Given the description of an element on the screen output the (x, y) to click on. 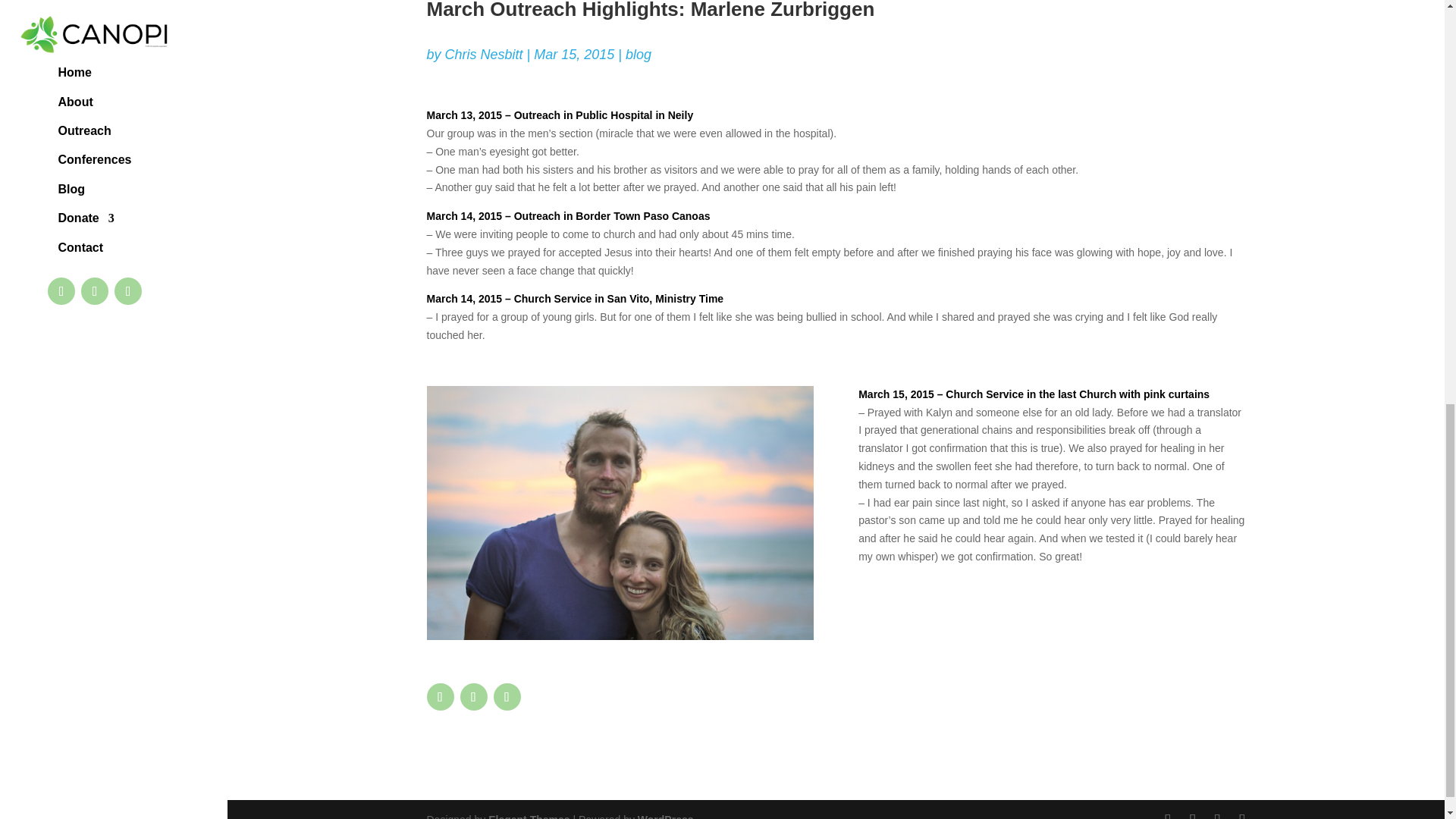
WordPress (665, 816)
Follow on Facebook (439, 696)
Posts by Chris Nesbitt (483, 54)
zurbriggen (619, 512)
Premium WordPress Themes (528, 816)
Follow on Twitter (473, 696)
Follow on Instagram (506, 696)
Elegant Themes (528, 816)
Chris Nesbitt (483, 54)
blog (638, 54)
